Given the description of an element on the screen output the (x, y) to click on. 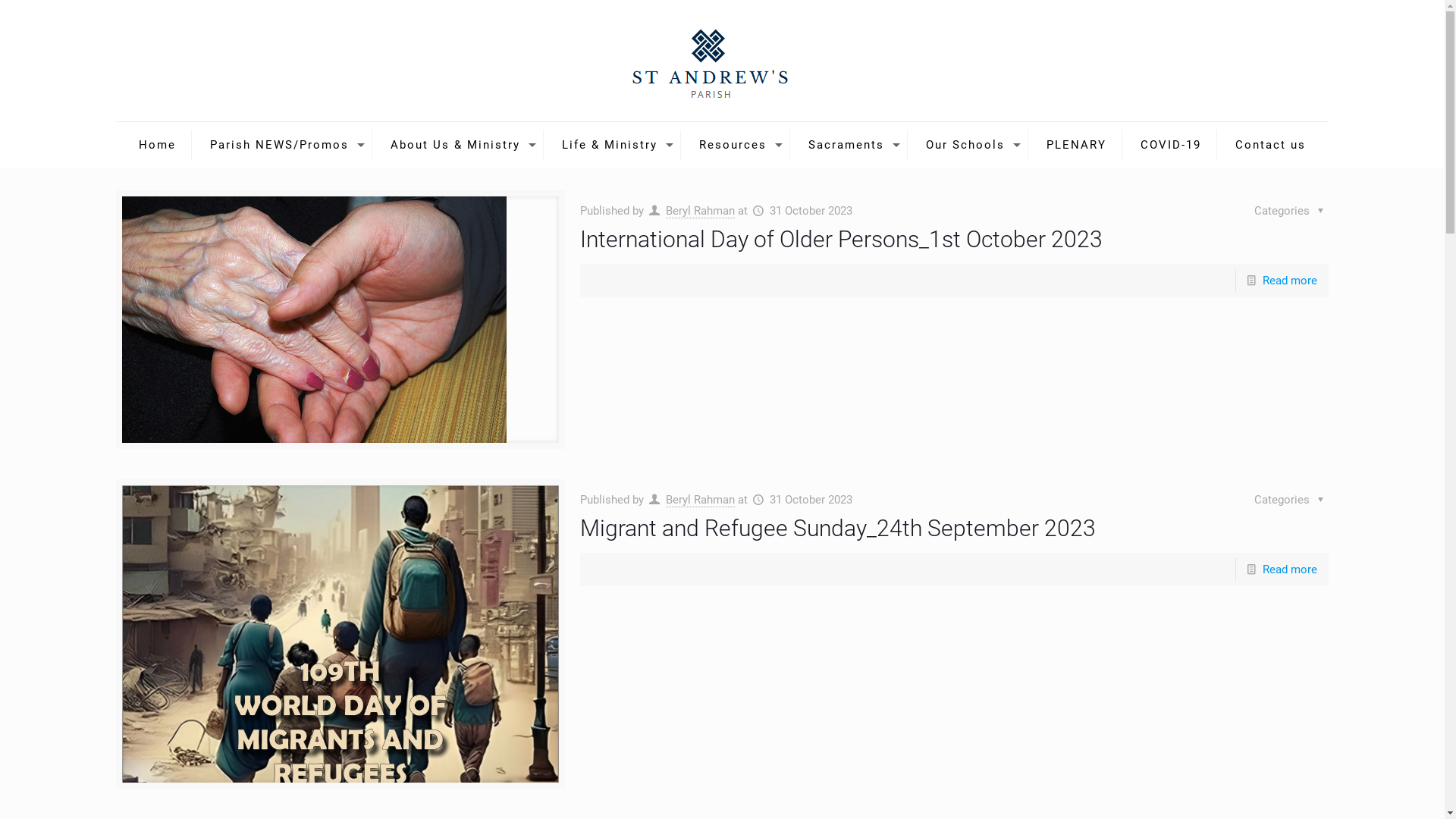
Parish NEWS/Promos Element type: text (283, 144)
Beryl Rahman Element type: text (699, 499)
Resources Element type: text (737, 144)
COVID-19 Element type: text (1171, 144)
Read more Element type: text (1289, 569)
Beryl Rahman Element type: text (699, 210)
Home Element type: text (157, 144)
Our Schools Element type: text (969, 144)
Read more Element type: text (1289, 280)
St Andrew's Parish Element type: hover (722, 60)
Sacraments Element type: text (850, 144)
Migrant and Refugee Sunday_24th September 2023 Element type: text (837, 527)
About Us & Ministry Element type: text (459, 144)
Life & Ministry Element type: text (613, 144)
PLENARY Element type: text (1076, 144)
International Day of Older Persons_1st October 2023 Element type: text (841, 238)
Contact us Element type: text (1270, 144)
